Given the description of an element on the screen output the (x, y) to click on. 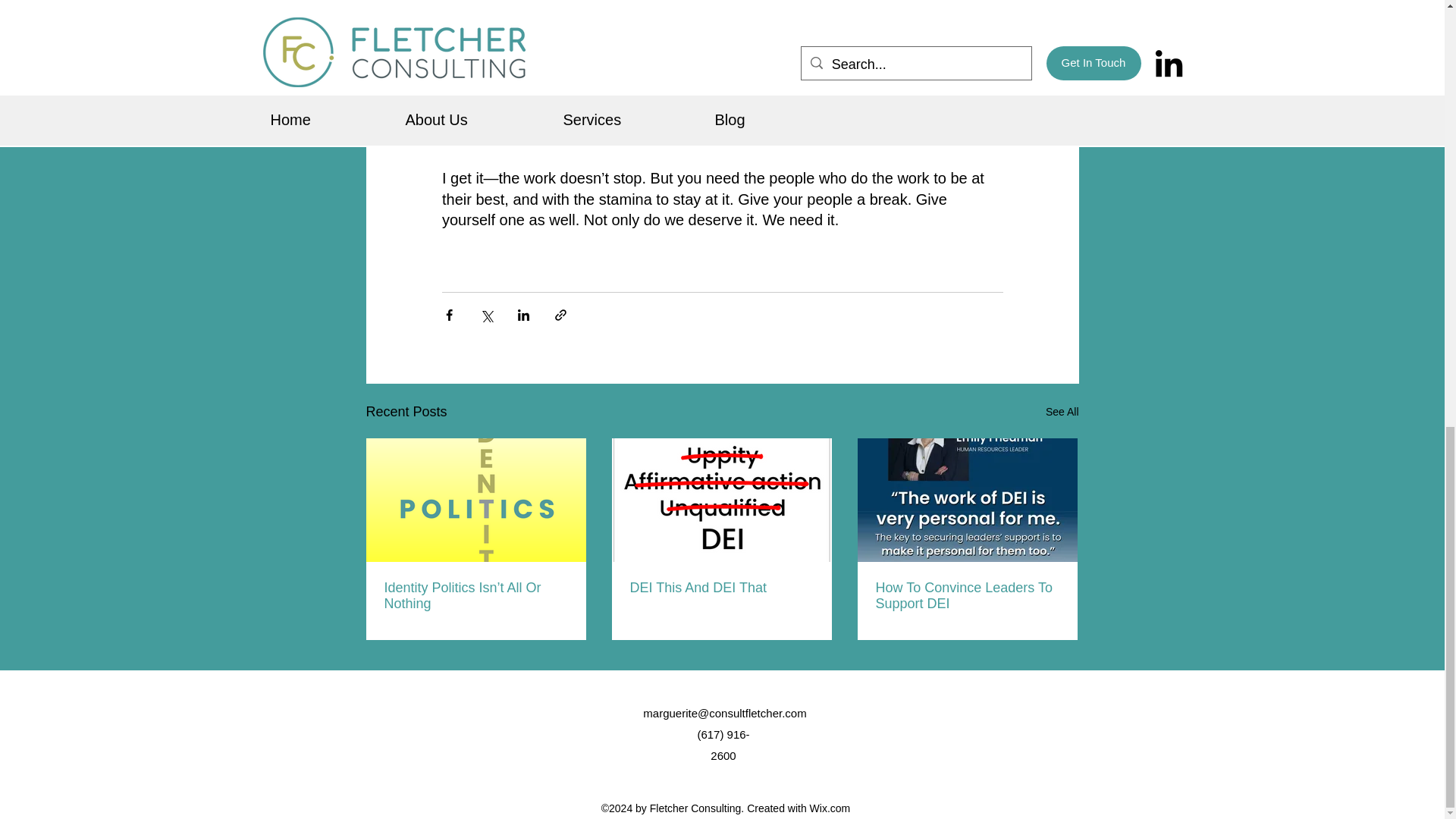
How To Convince Leaders To Support DEI (966, 595)
DEI This And DEI That (720, 587)
See All (1061, 412)
